Given the description of an element on the screen output the (x, y) to click on. 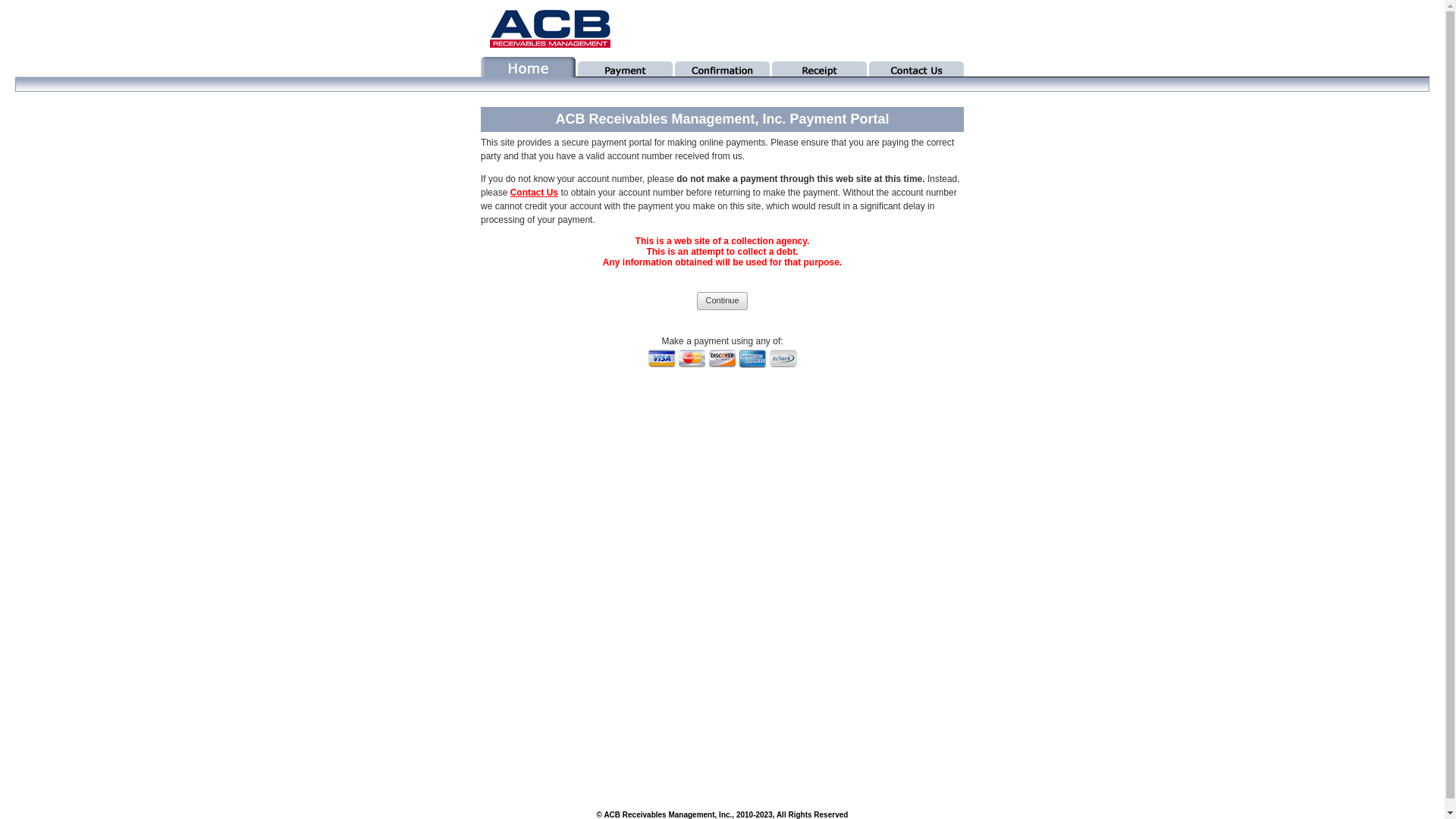
Continue Element type: text (721, 300)
Contact Us Element type: text (534, 192)
